Given the description of an element on the screen output the (x, y) to click on. 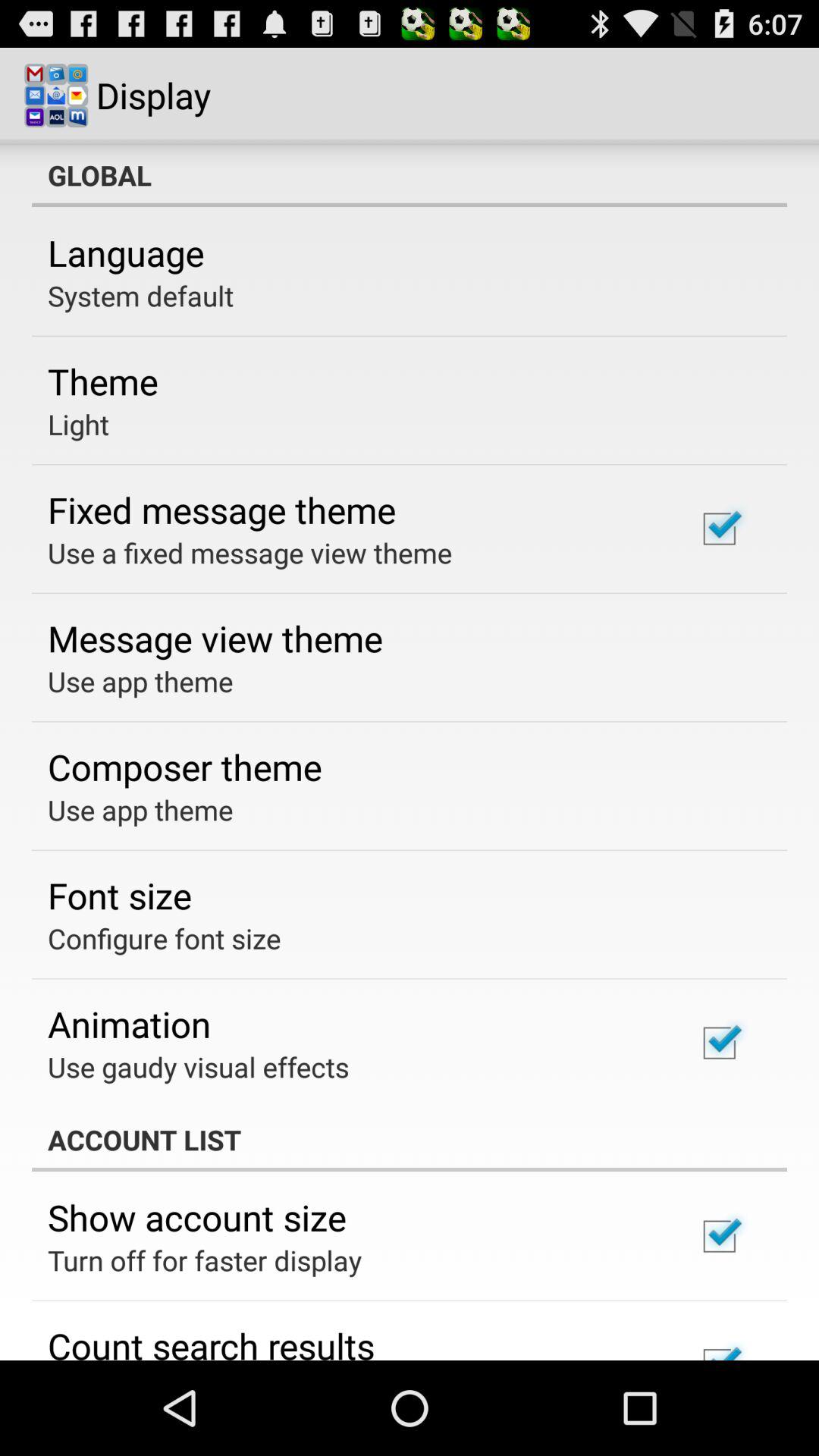
click the item below show account size app (204, 1260)
